Given the description of an element on the screen output the (x, y) to click on. 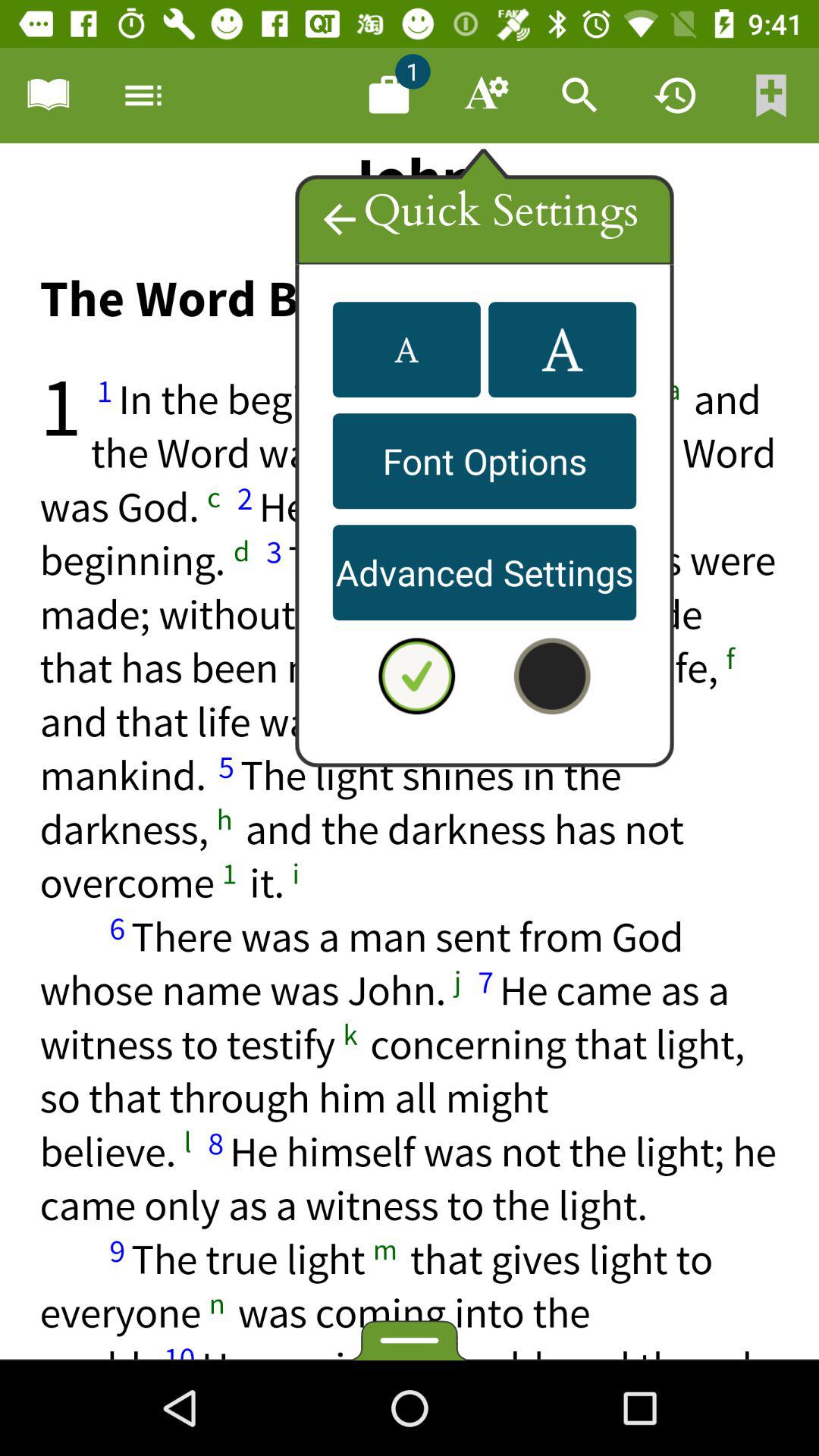
font tab (484, 95)
